Given the description of an element on the screen output the (x, y) to click on. 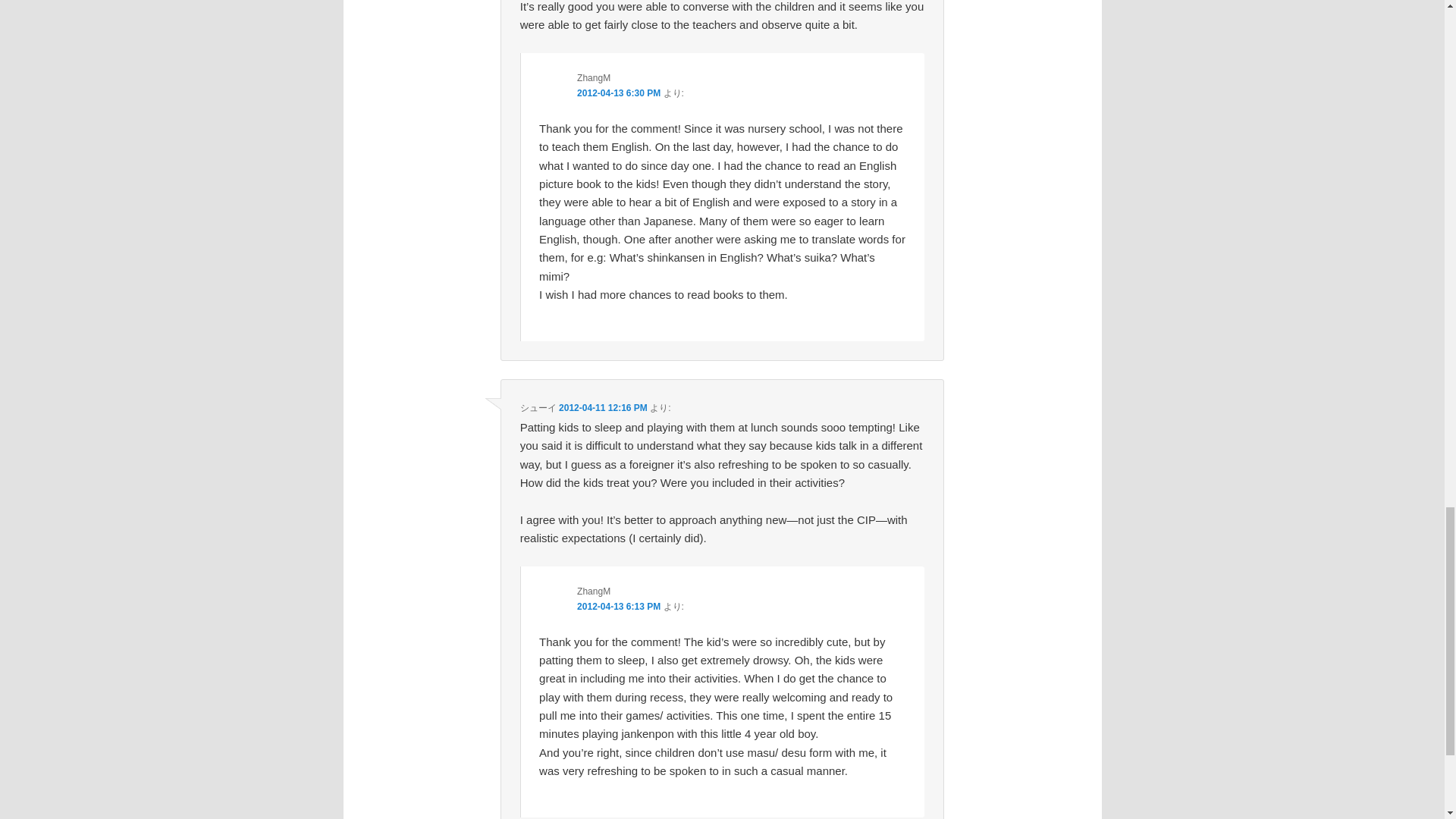
2012-04-13 6:30 PM (618, 92)
2012-04-11 12:16 PM (603, 407)
2012-04-13 6:13 PM (618, 606)
